Given the description of an element on the screen output the (x, y) to click on. 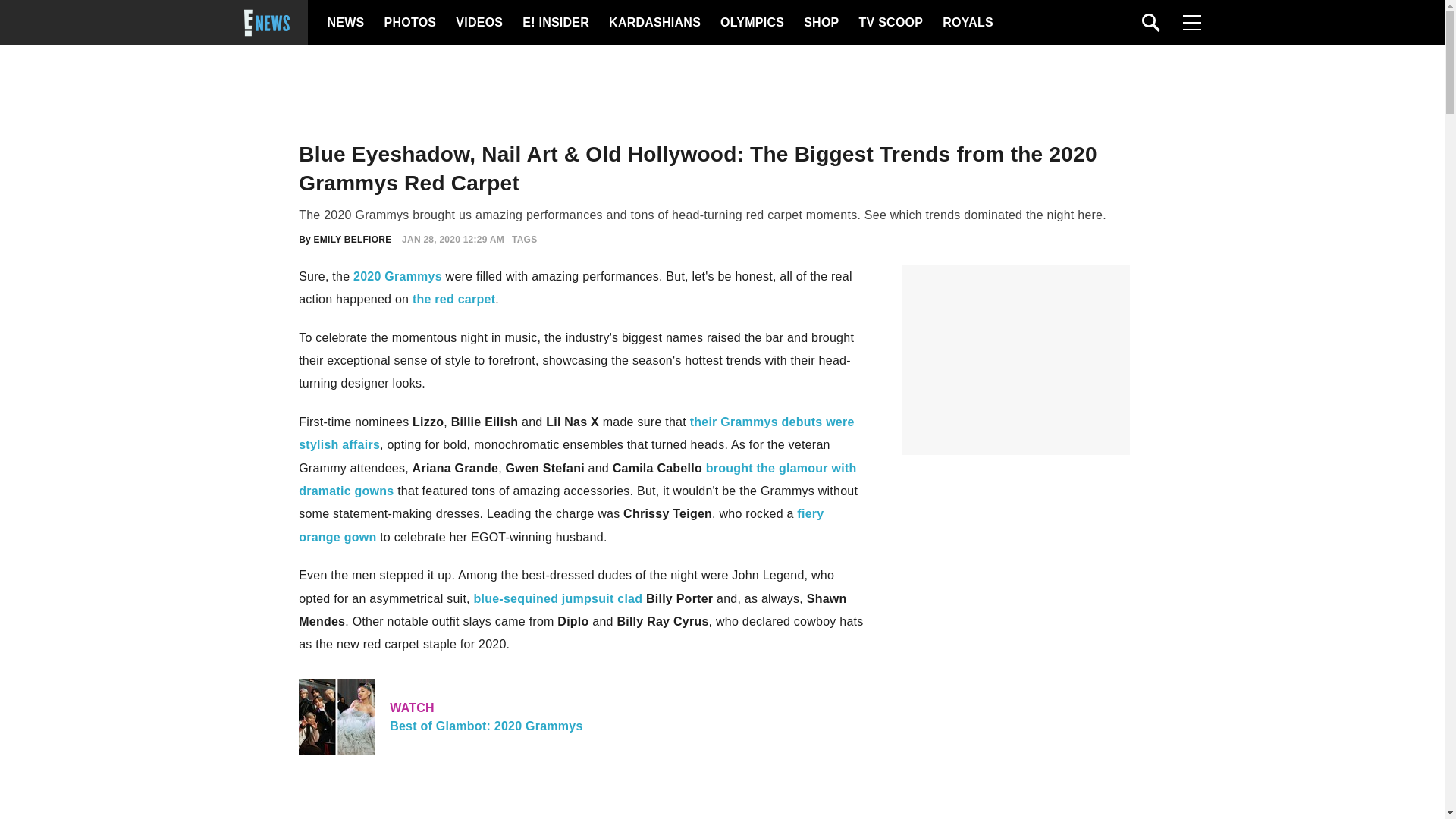
SHOP (820, 22)
E! INSIDER (555, 22)
NEWS (345, 22)
TV SCOOP (890, 22)
their Grammys debuts were stylish affairs (575, 433)
brought the glamour with dramatic gowns (577, 479)
fiery orange gown (561, 524)
2020 Grammys (397, 276)
KARDASHIANS (653, 22)
the red carpet (453, 298)
